Given the description of an element on the screen output the (x, y) to click on. 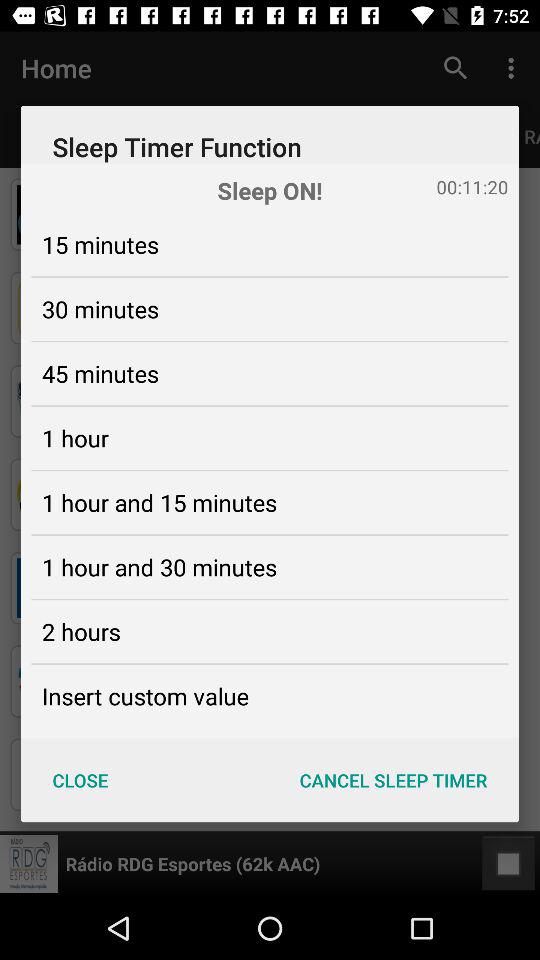
choose 45 minutes (100, 373)
